Given the description of an element on the screen output the (x, y) to click on. 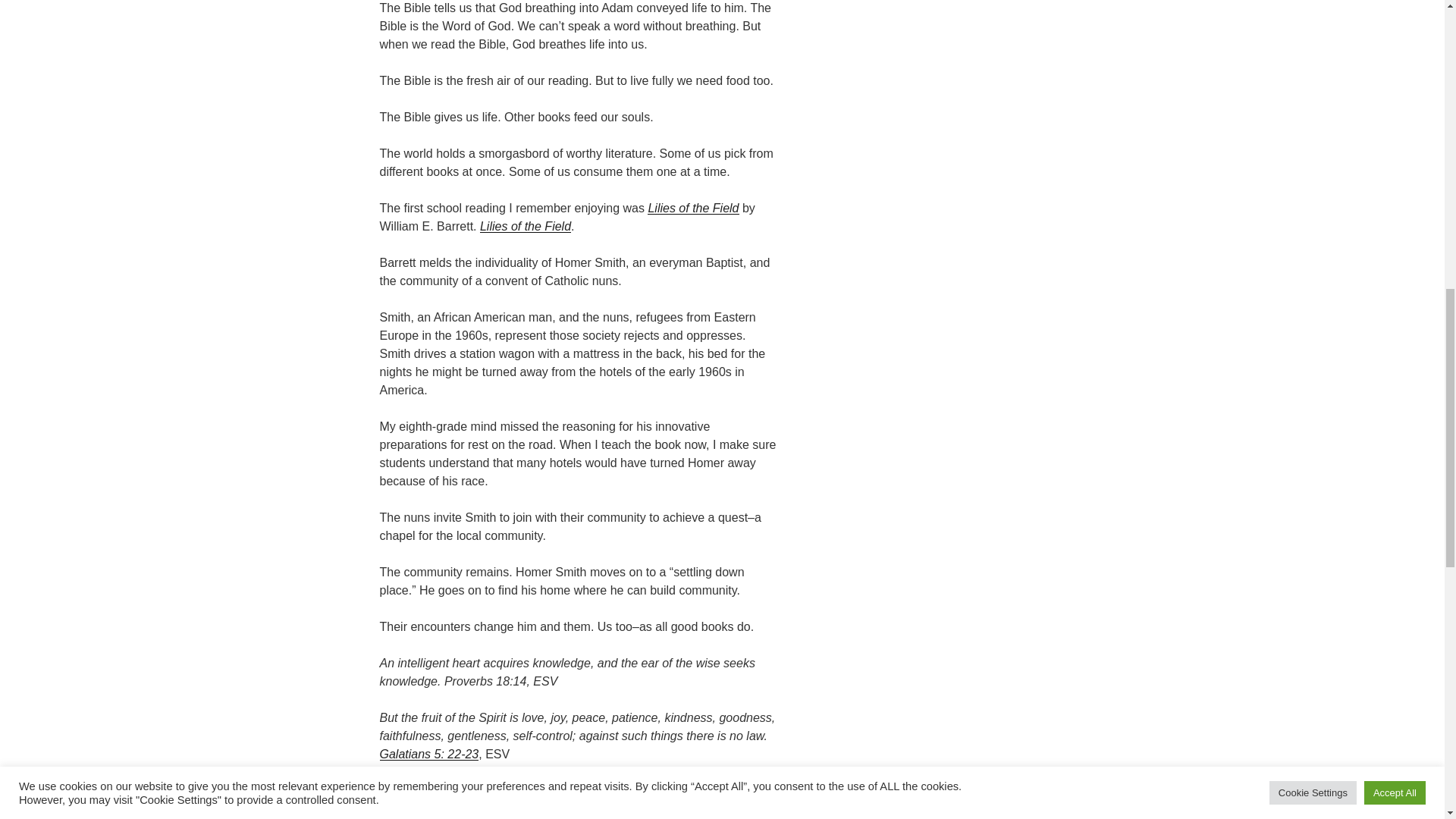
Pexels (491, 811)
Galatians 5: 22-23 (428, 753)
Lilies of the Field (692, 207)
Lilies of the Field (525, 226)
